Given the description of an element on the screen output the (x, y) to click on. 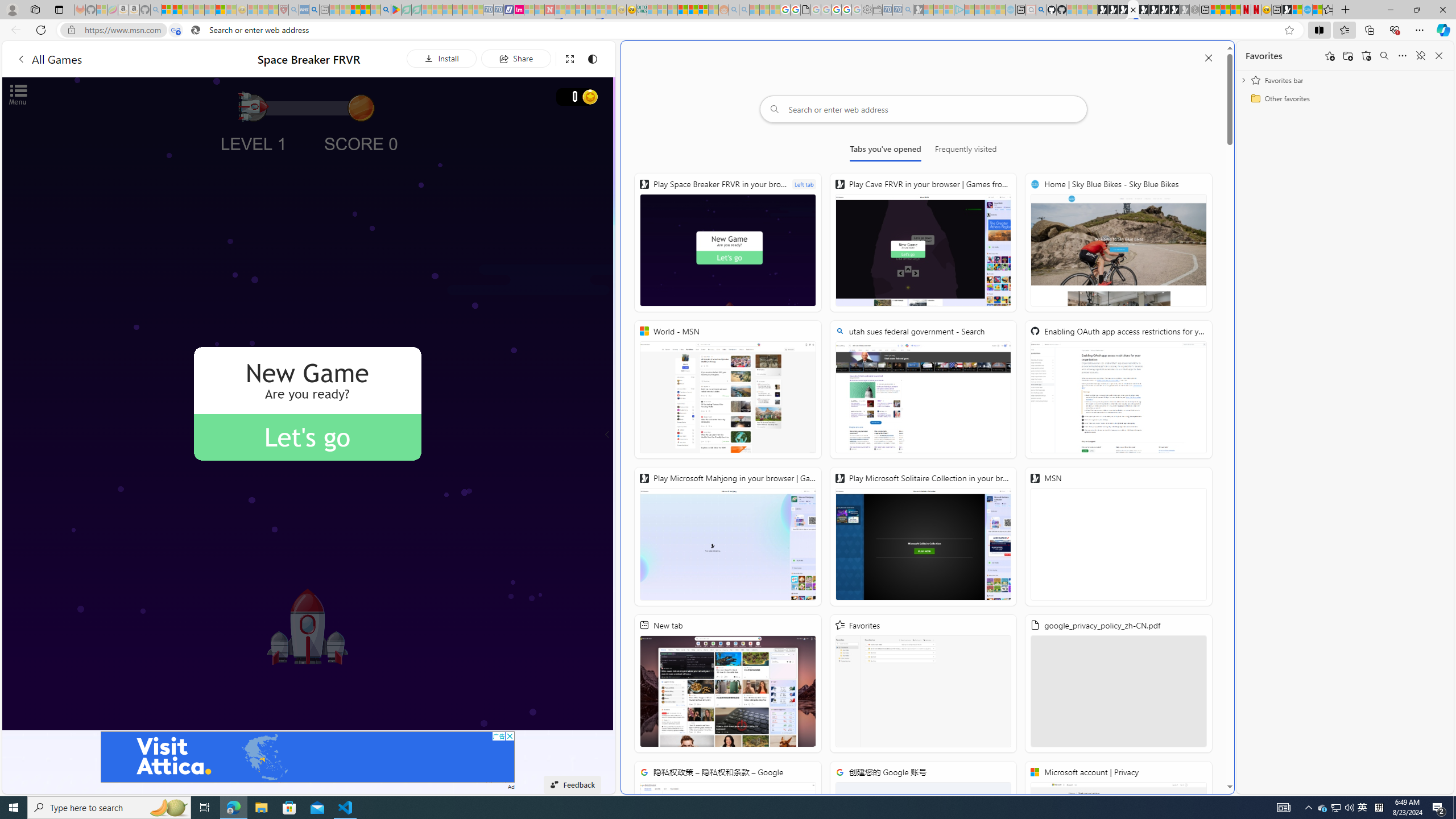
Add this page to favorites (1330, 55)
Terms of Use Agreement - Sleeping (406, 9)
Advertisement (307, 756)
